Given the description of an element on the screen output the (x, y) to click on. 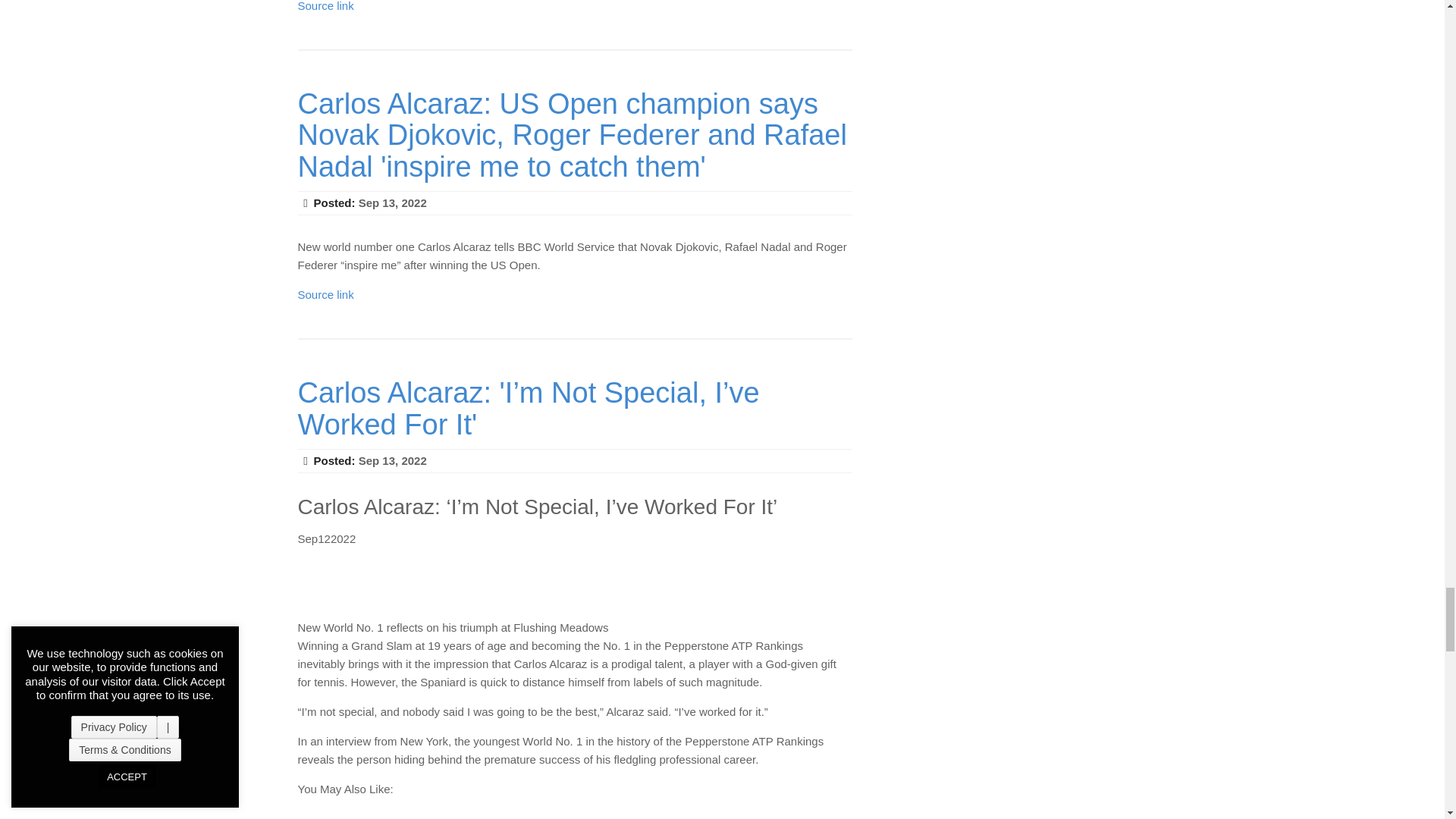
Source link (325, 6)
